Given the description of an element on the screen output the (x, y) to click on. 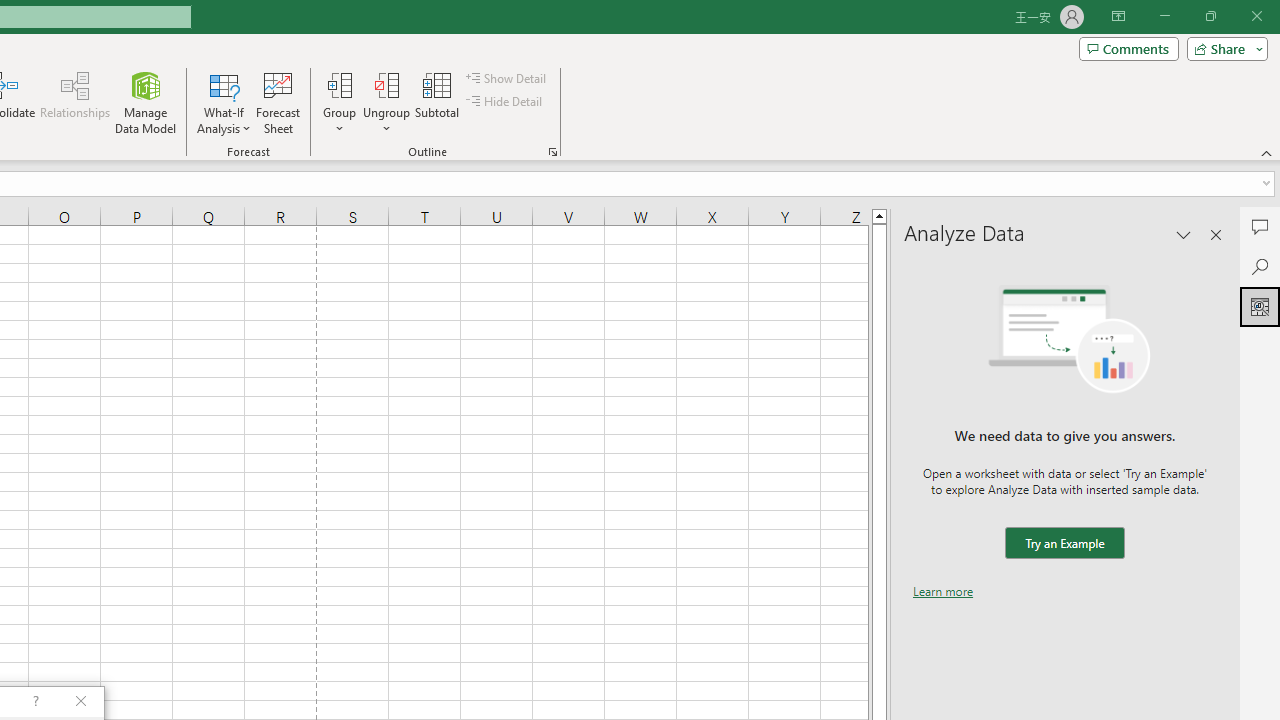
Close (1256, 16)
Ribbon Display Options (1118, 16)
Subtotal (437, 102)
Restore Down (1210, 16)
Group... (339, 84)
Collapse the Ribbon (1267, 152)
Manage Data Model (145, 102)
More Options (386, 121)
Close pane (1215, 234)
Relationships (75, 102)
Analyze Data (1260, 306)
Share (1223, 48)
Search (1260, 266)
Comments (1260, 226)
Line up (879, 215)
